Given the description of an element on the screen output the (x, y) to click on. 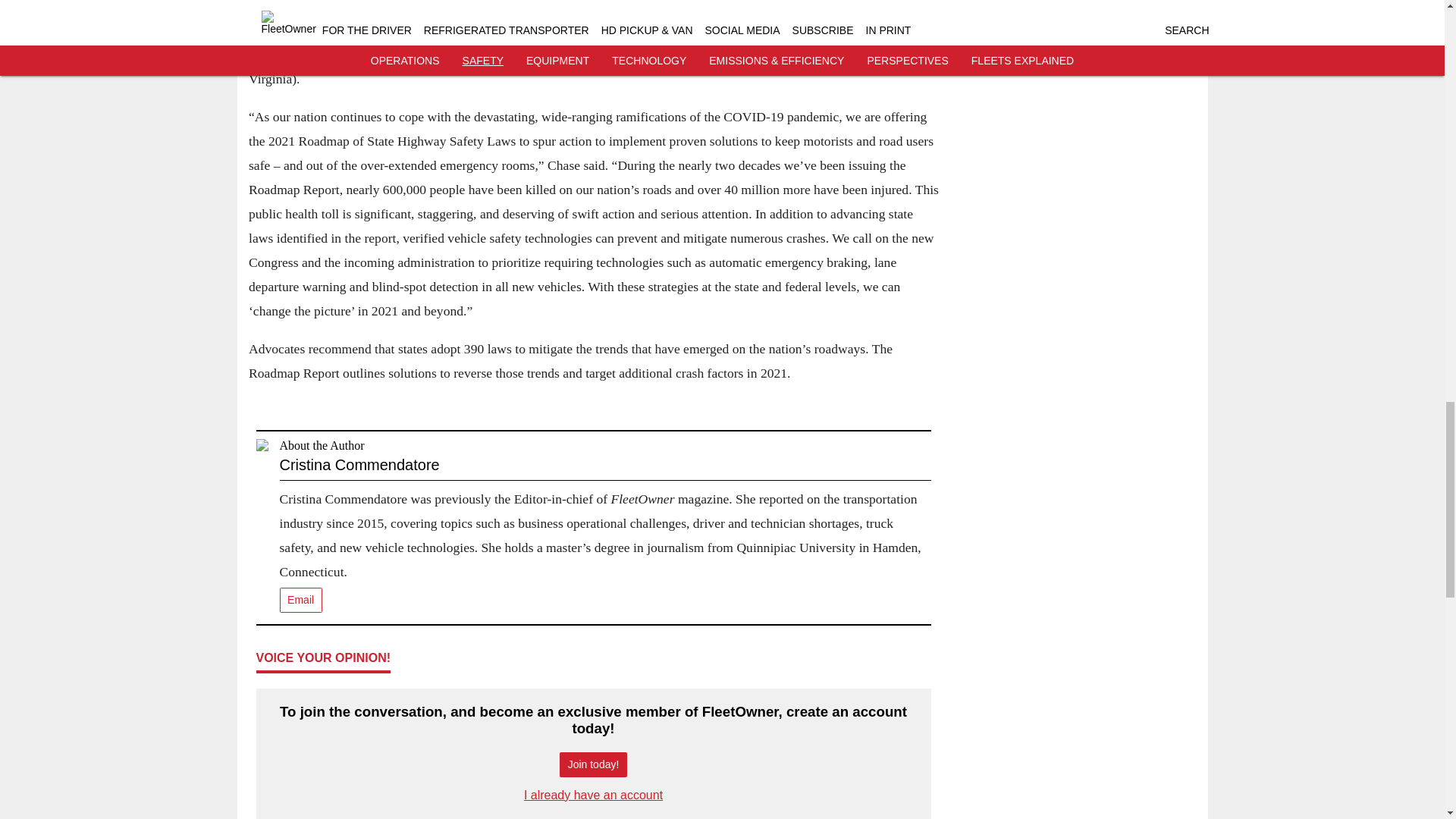
Email (300, 600)
Join today! (593, 764)
I already have an account (593, 794)
Ohio (753, 54)
